Given the description of an element on the screen output the (x, y) to click on. 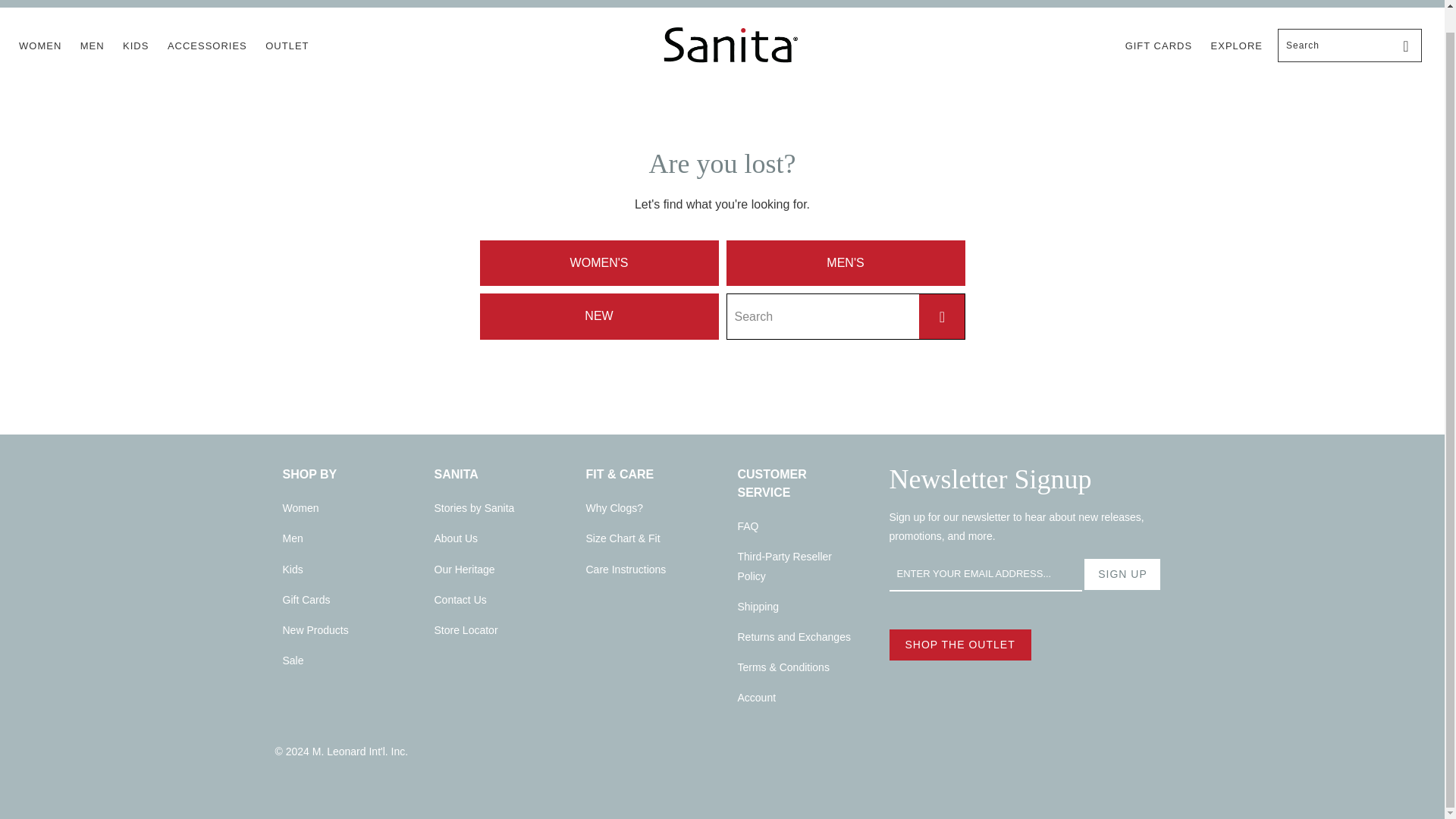
Sanita (729, 45)
My Account  (1350, 3)
Sanita on YouTube (49, 2)
Sign Up (1122, 574)
Sanita on Instagram (93, 2)
Sanita on Facebook (25, 2)
Email Sanita (115, 2)
Sanita on Pinterest (71, 2)
